Given the description of an element on the screen output the (x, y) to click on. 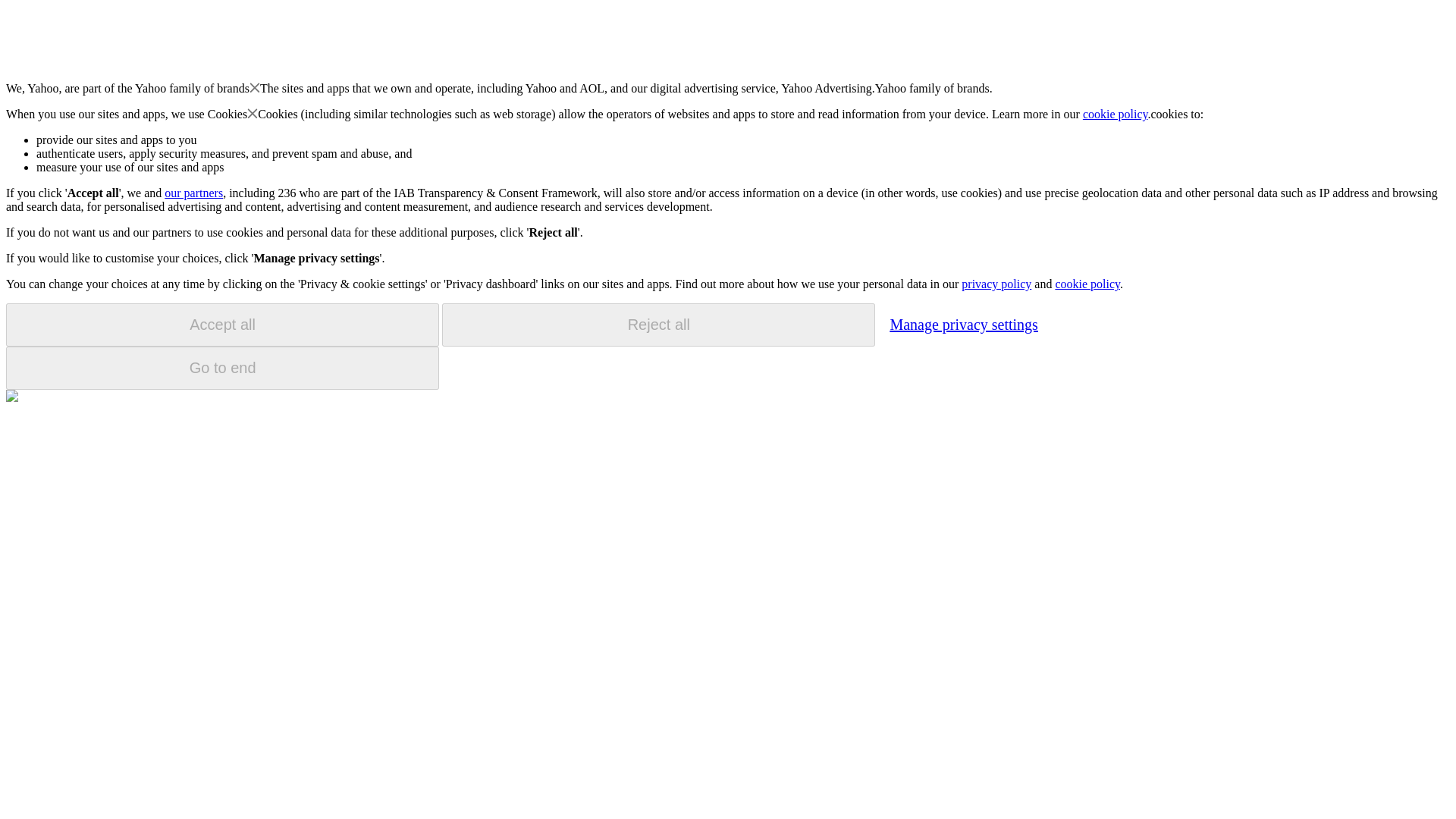
cookie policy (1086, 283)
Accept all (222, 324)
privacy policy (995, 283)
our partners (193, 192)
Manage privacy settings (963, 323)
Go to end (222, 367)
Reject all (658, 324)
cookie policy (1115, 113)
